Given the description of an element on the screen output the (x, y) to click on. 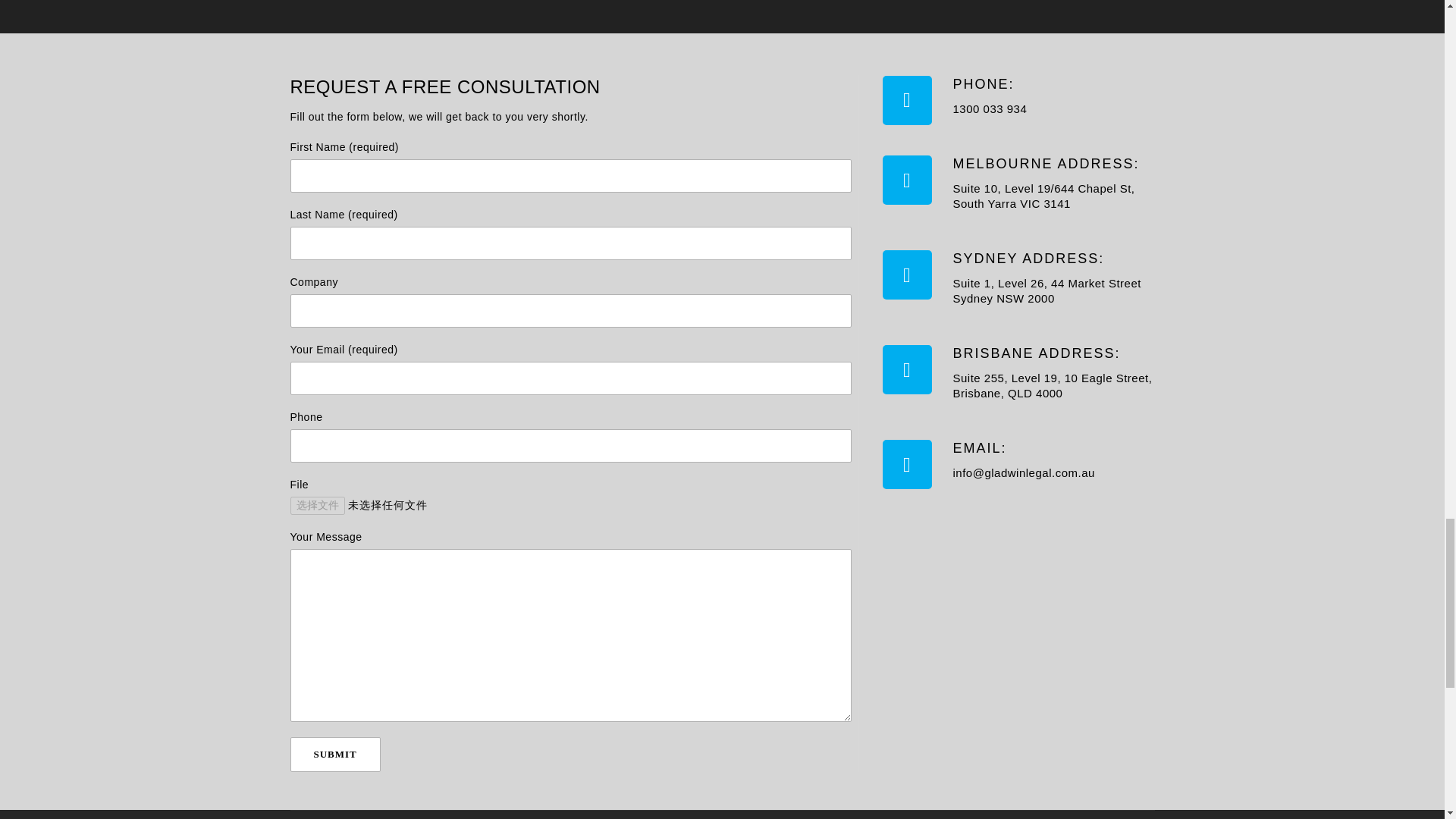
Submit (334, 754)
